Given the description of an element on the screen output the (x, y) to click on. 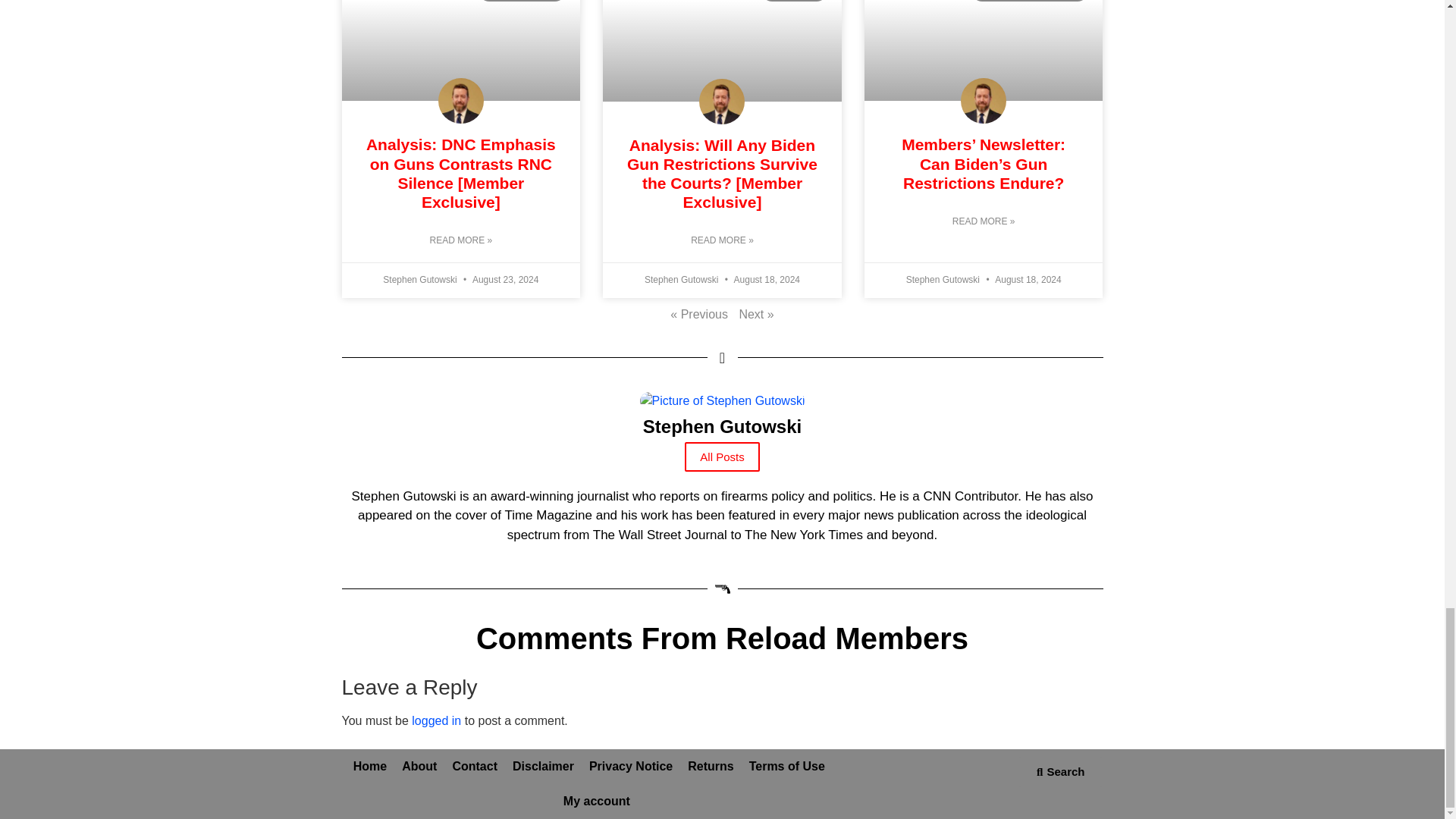
About (418, 766)
logged in (436, 720)
Stephen Gutowski (721, 440)
Disclaimer (542, 766)
All Posts (721, 456)
Home (370, 766)
Contact (474, 766)
